Given the description of an element on the screen output the (x, y) to click on. 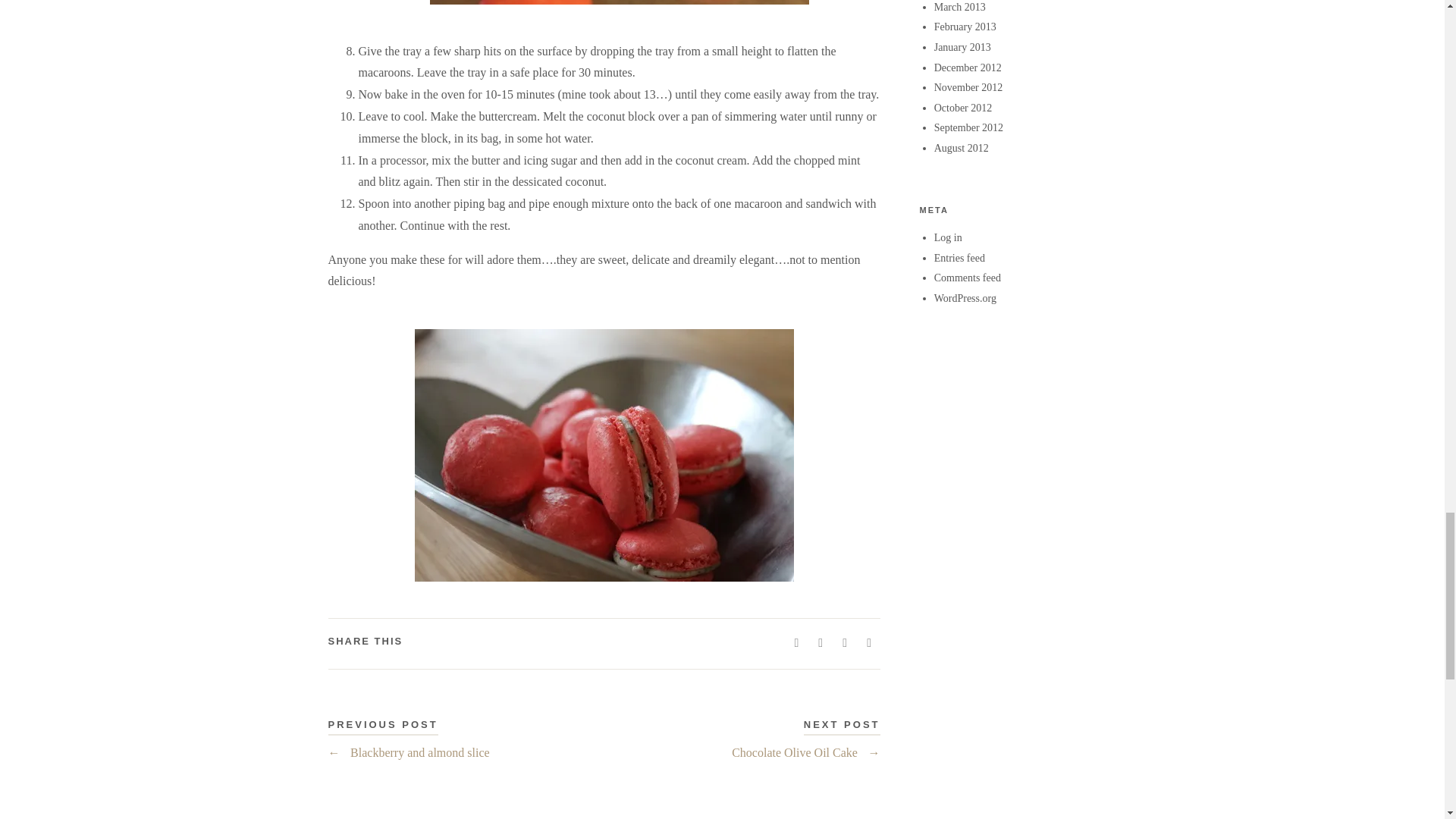
Share this post with your followers (820, 642)
Email this post to a friend (869, 642)
Share this post on Facebook (797, 642)
